Given the description of an element on the screen output the (x, y) to click on. 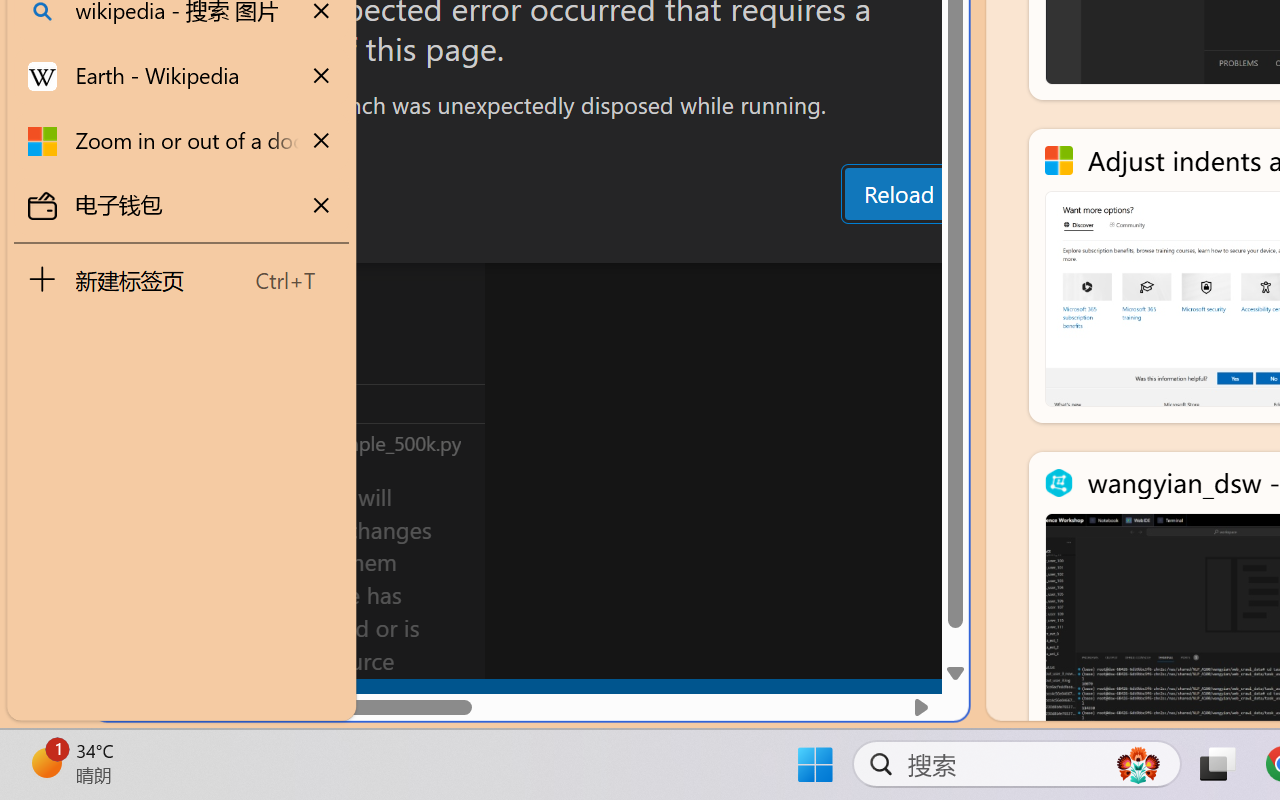
Output (Ctrl+Shift+U) (696, 243)
Debug Console (Ctrl+Shift+Y) (854, 243)
Outline Section (331, 403)
Manage (135, 635)
Reload (898, 193)
